Given the description of an element on the screen output the (x, y) to click on. 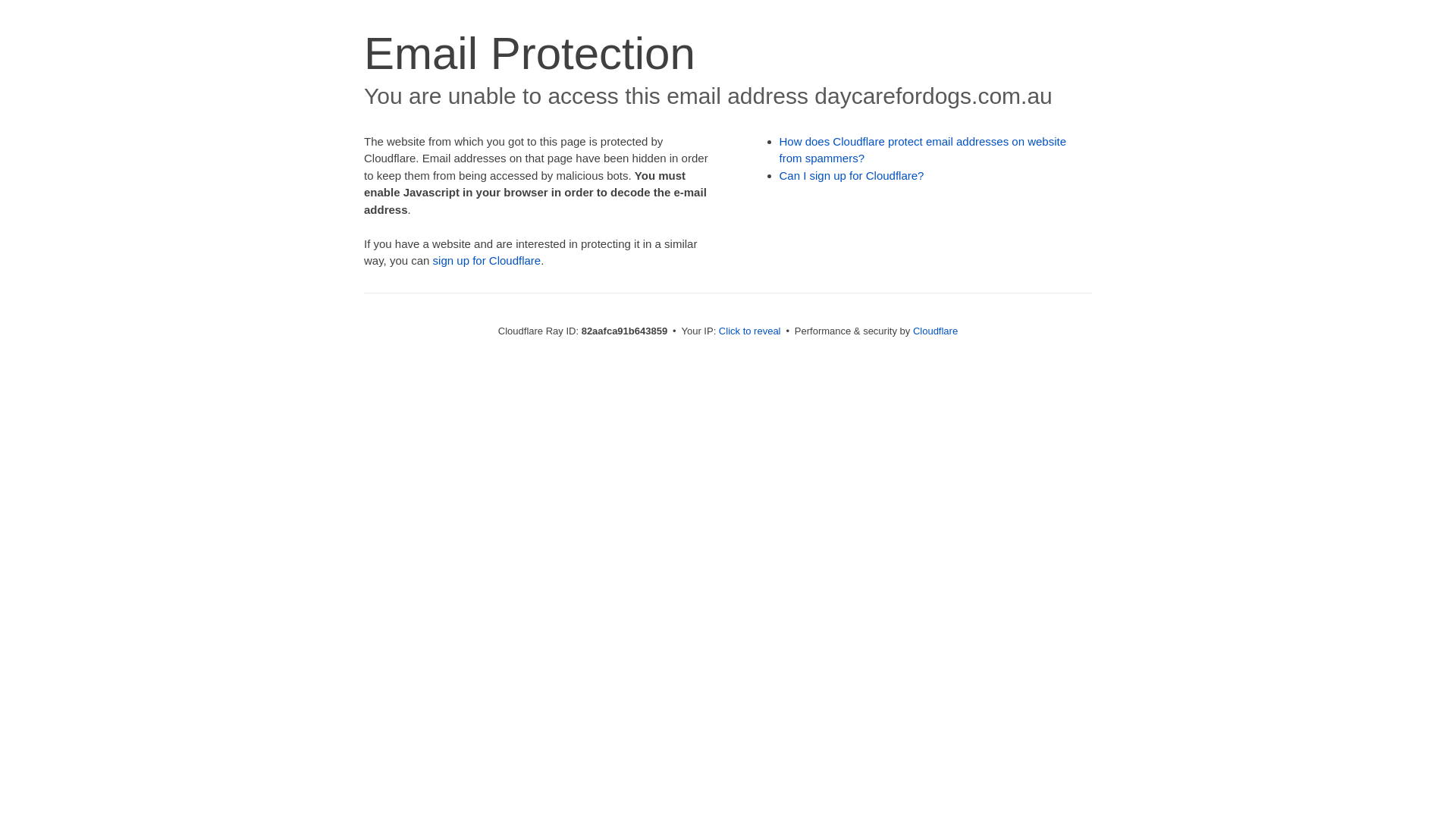
Click to reveal Element type: text (749, 330)
Can I sign up for Cloudflare? Element type: text (851, 175)
Cloudflare Element type: text (935, 330)
sign up for Cloudflare Element type: text (487, 260)
